Given the description of an element on the screen output the (x, y) to click on. 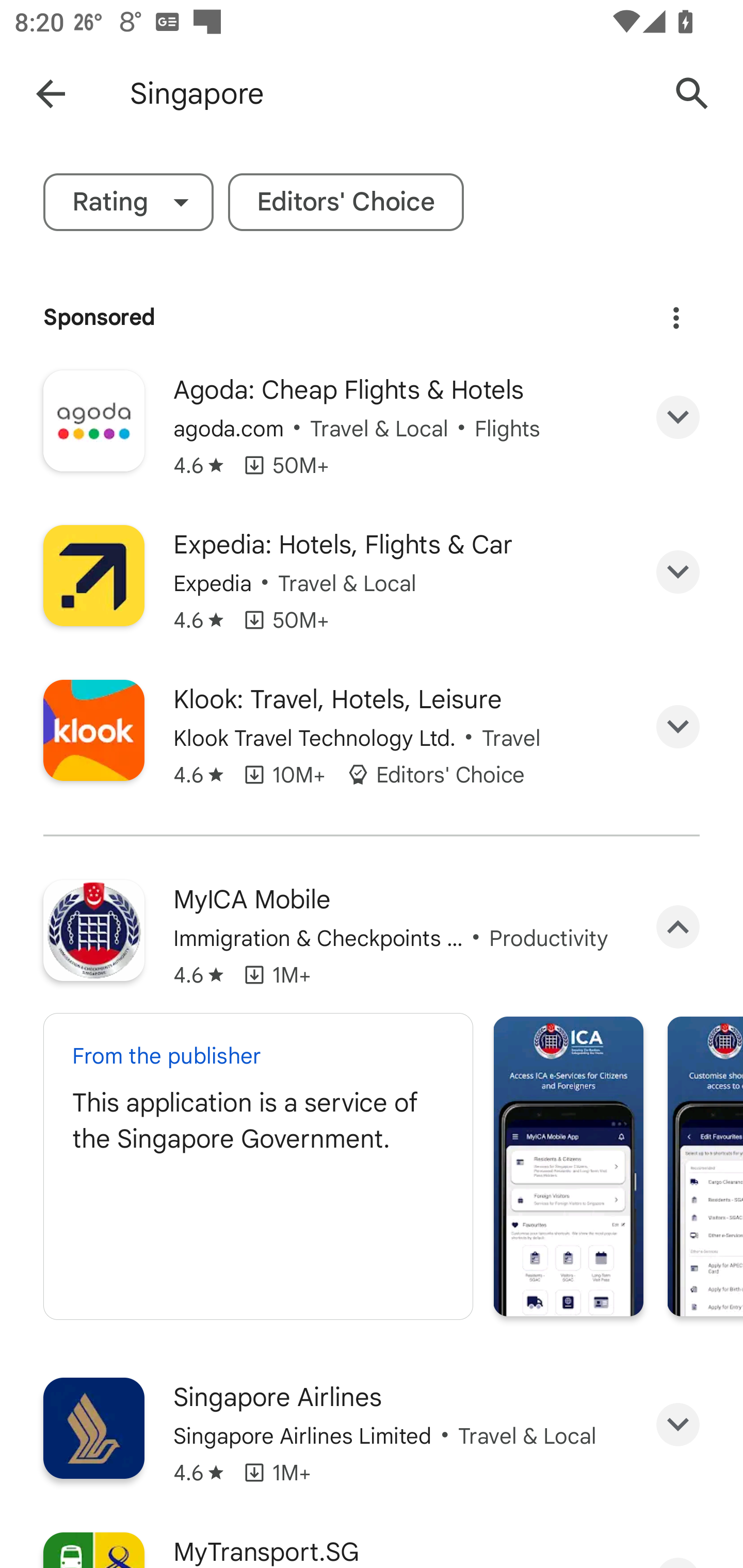
Singapore (389, 93)
Navigate up (50, 93)
Search Google Play (692, 93)
Rating - double tap to change the filter (128, 202)
Editors' Choice - double tap to toggle the filter (345, 202)
About this ad (676, 318)
Expand content for Agoda: Cheap Flights & Hotels (677, 416)
Expand content for Expedia: Hotels, Flights & Car (677, 571)
Expand content for Klook: Travel, Hotels, Leisure (677, 726)
Collapse content for MyICA Mobile (677, 926)
Screenshot "1" of "4" (568, 1165)
Expand content for Singapore Airlines (677, 1424)
